Given the description of an element on the screen output the (x, y) to click on. 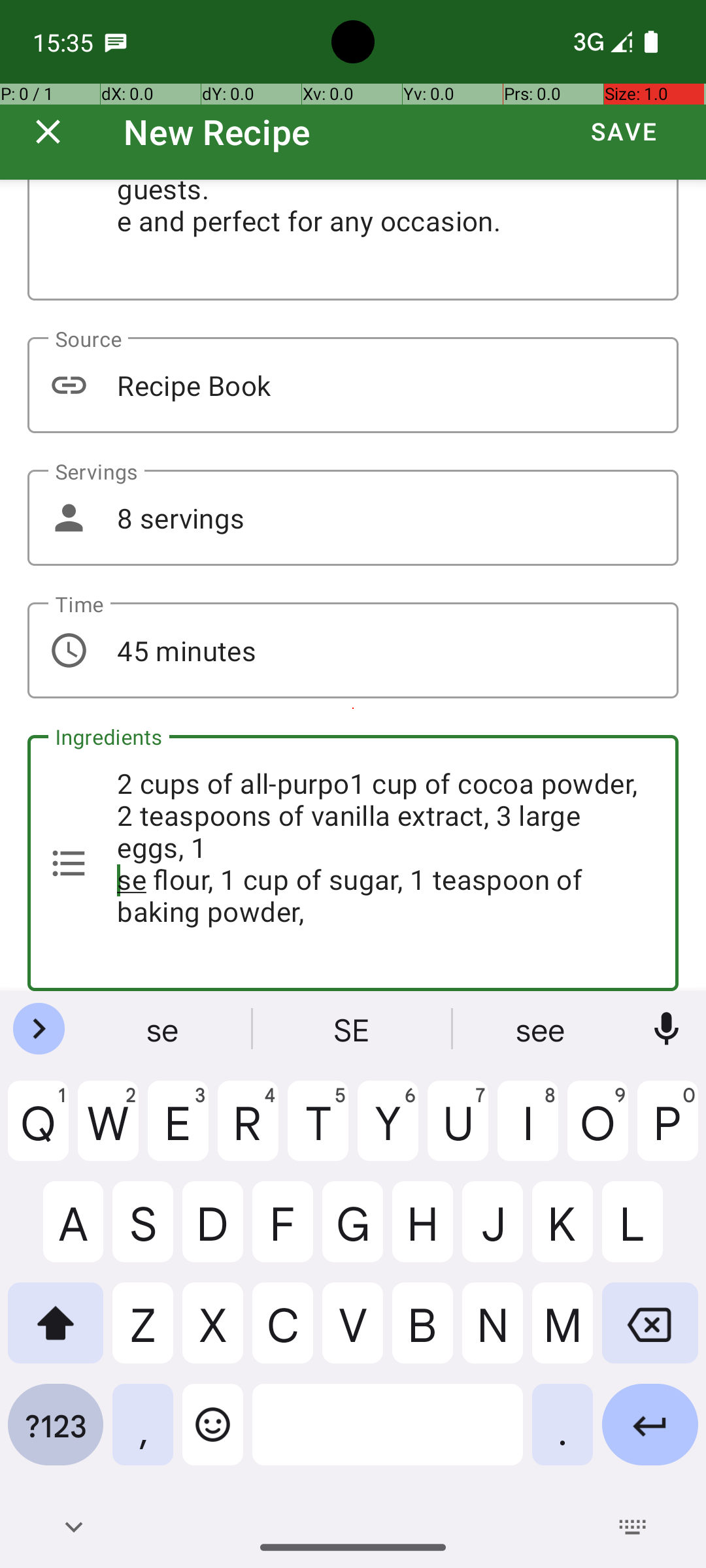
This recipe is a delicious chocolate cake that is easy to makThis rich and moist chocolate cake is made with simple ingredients and is sure to impress your guests.
e and perfect for any occasion.
 Element type: android.widget.EditText (352, 239)
Recipe Book Element type: android.widget.EditText (352, 385)
45 minutes Element type: android.widget.EditText (352, 650)
2 cups of all-purpo1 cup of cocoa powder, 2 teaspoons of vanilla extract, 3 large eggs, 1
se flour, 1 cup of sugar, 1 teaspoon of baking powder,
 Element type: android.widget.EditText (352, 863)
se Element type: android.widget.FrameLayout (163, 1028)
SE Element type: android.widget.FrameLayout (352, 1028)
see Element type: android.widget.FrameLayout (541, 1028)
